Given the description of an element on the screen output the (x, y) to click on. 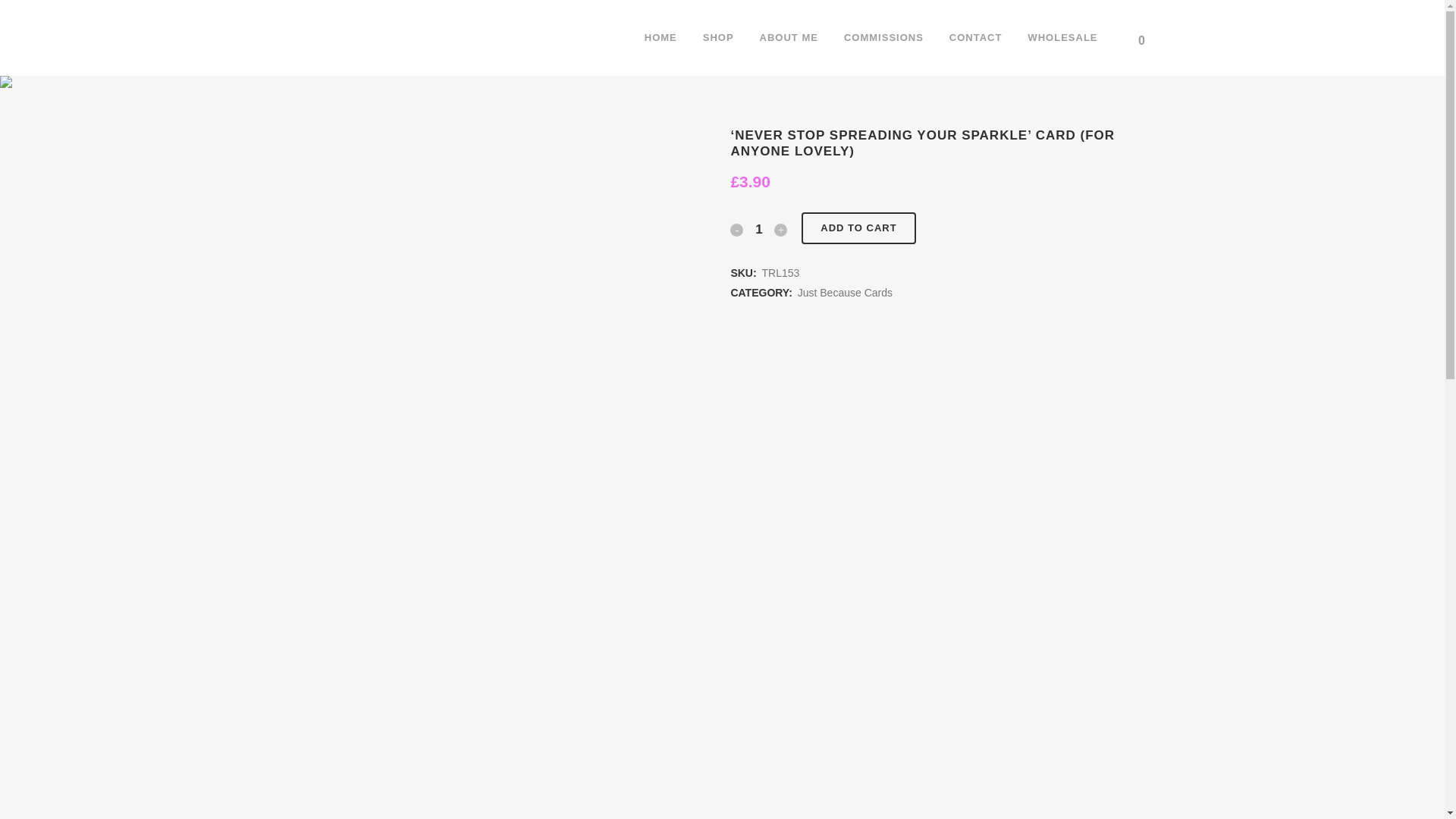
Qty (758, 228)
CONTACT (975, 38)
- (736, 228)
ADD TO CART (858, 228)
WHOLESALE (1061, 38)
1 (758, 228)
COMMISSIONS (883, 38)
Just Because Cards (844, 292)
ABOUT ME (788, 38)
0 (1144, 37)
